Given the description of an element on the screen output the (x, y) to click on. 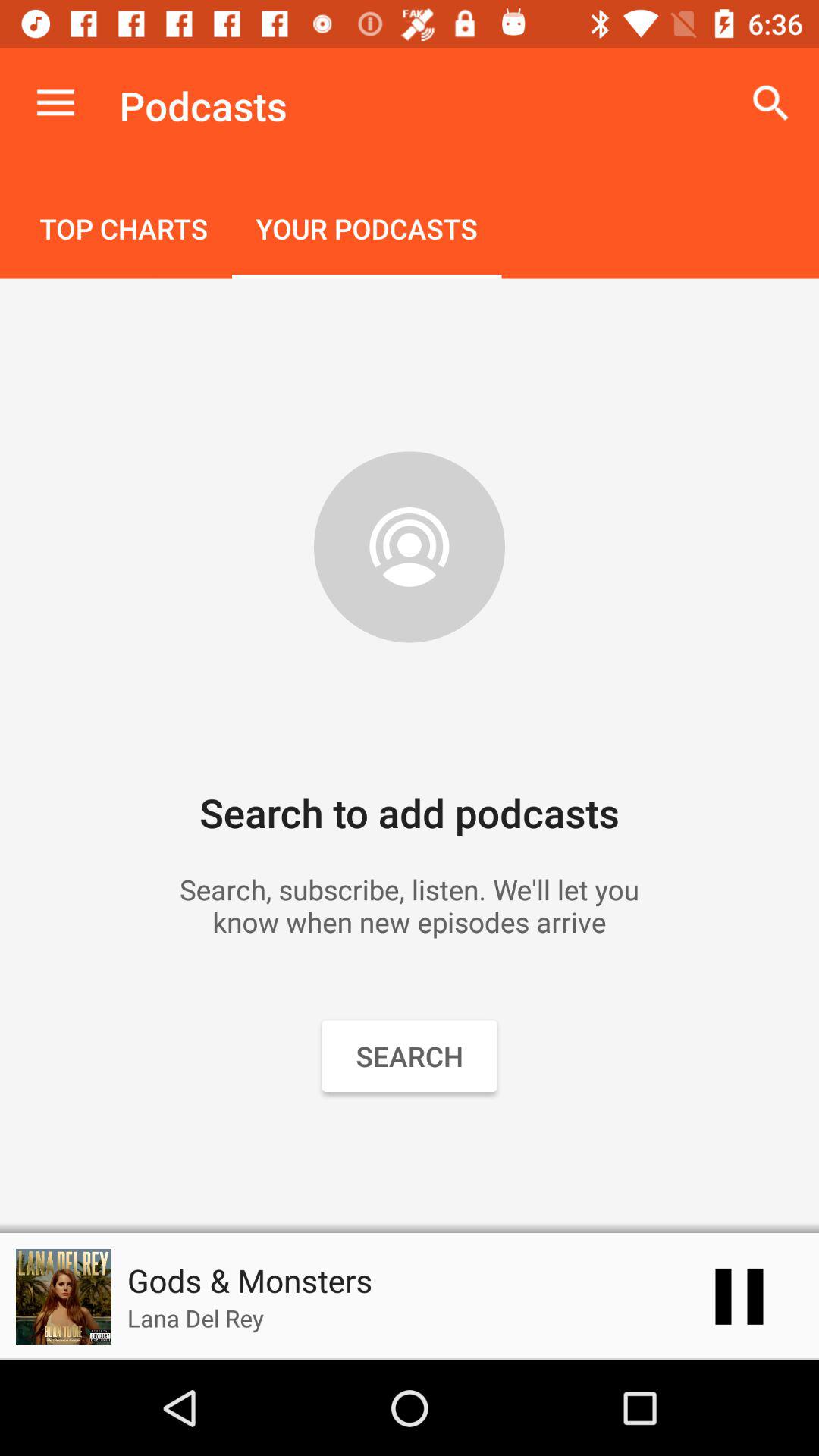
launch item next to the gods & monsters item (739, 1296)
